Given the description of an element on the screen output the (x, y) to click on. 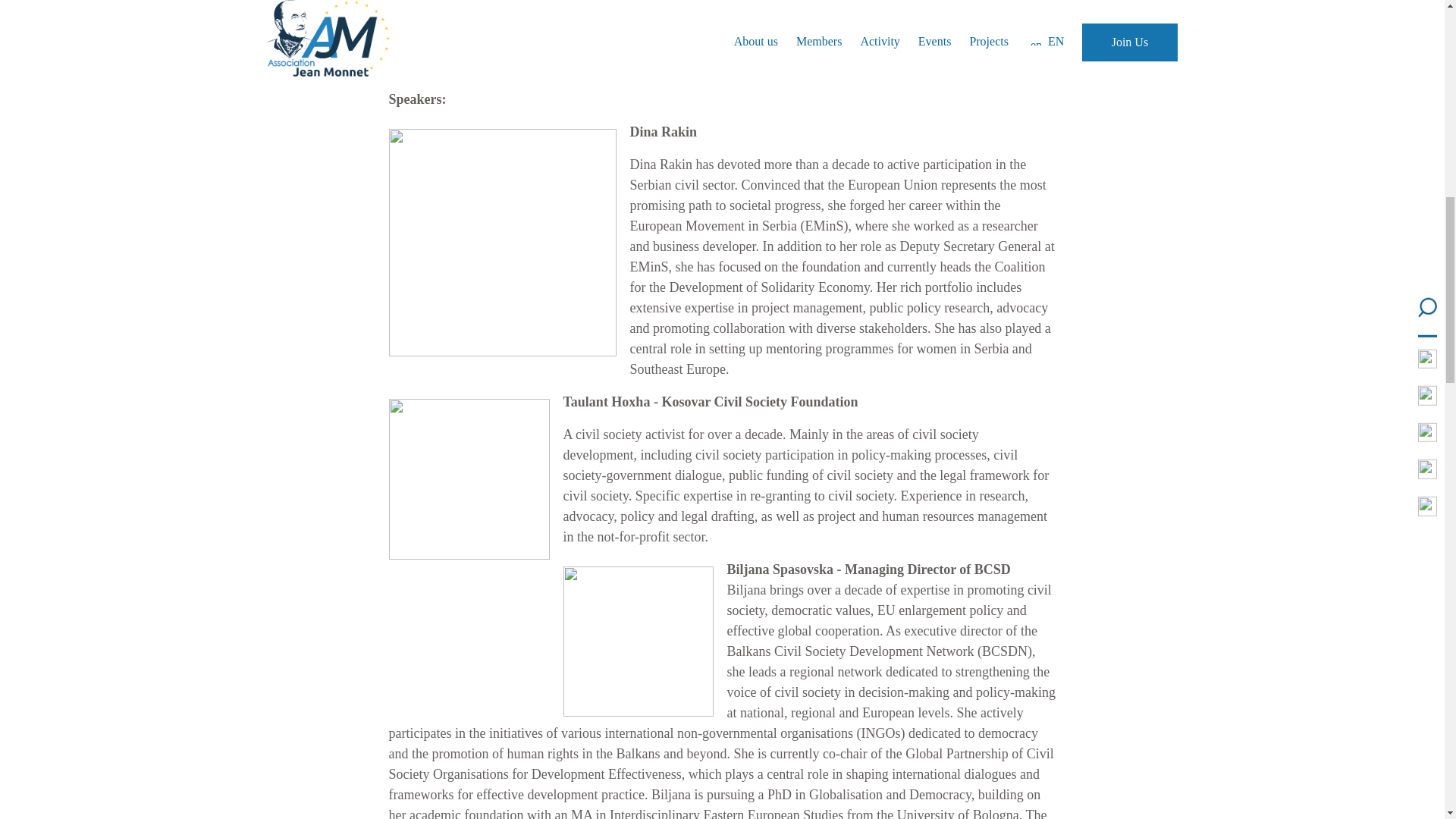
Association Jean Monnet - The Balkans' vision of Europe (577, 44)
